Given the description of an element on the screen output the (x, y) to click on. 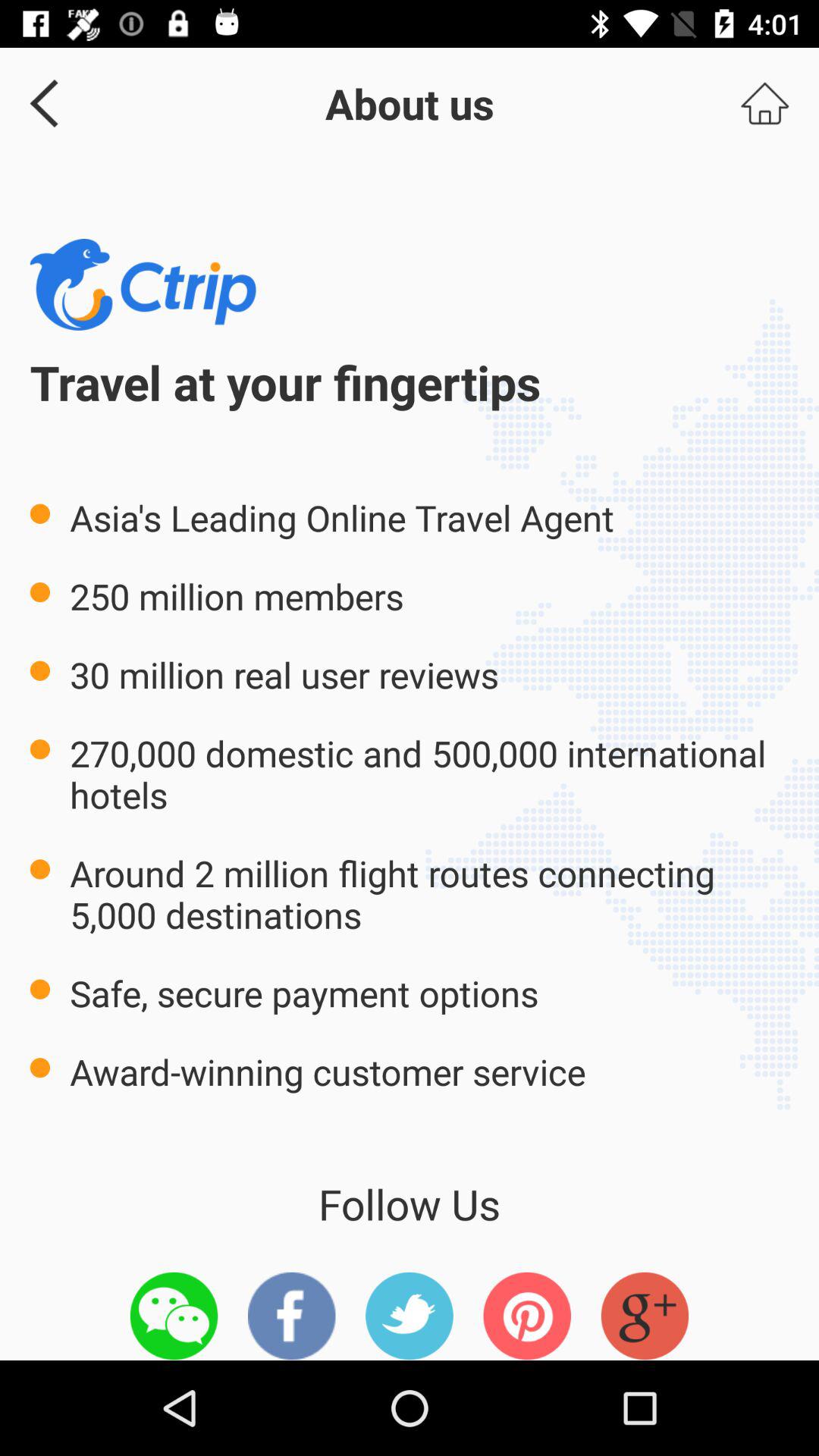
choose item below follow us item (291, 1315)
